Given the description of an element on the screen output the (x, y) to click on. 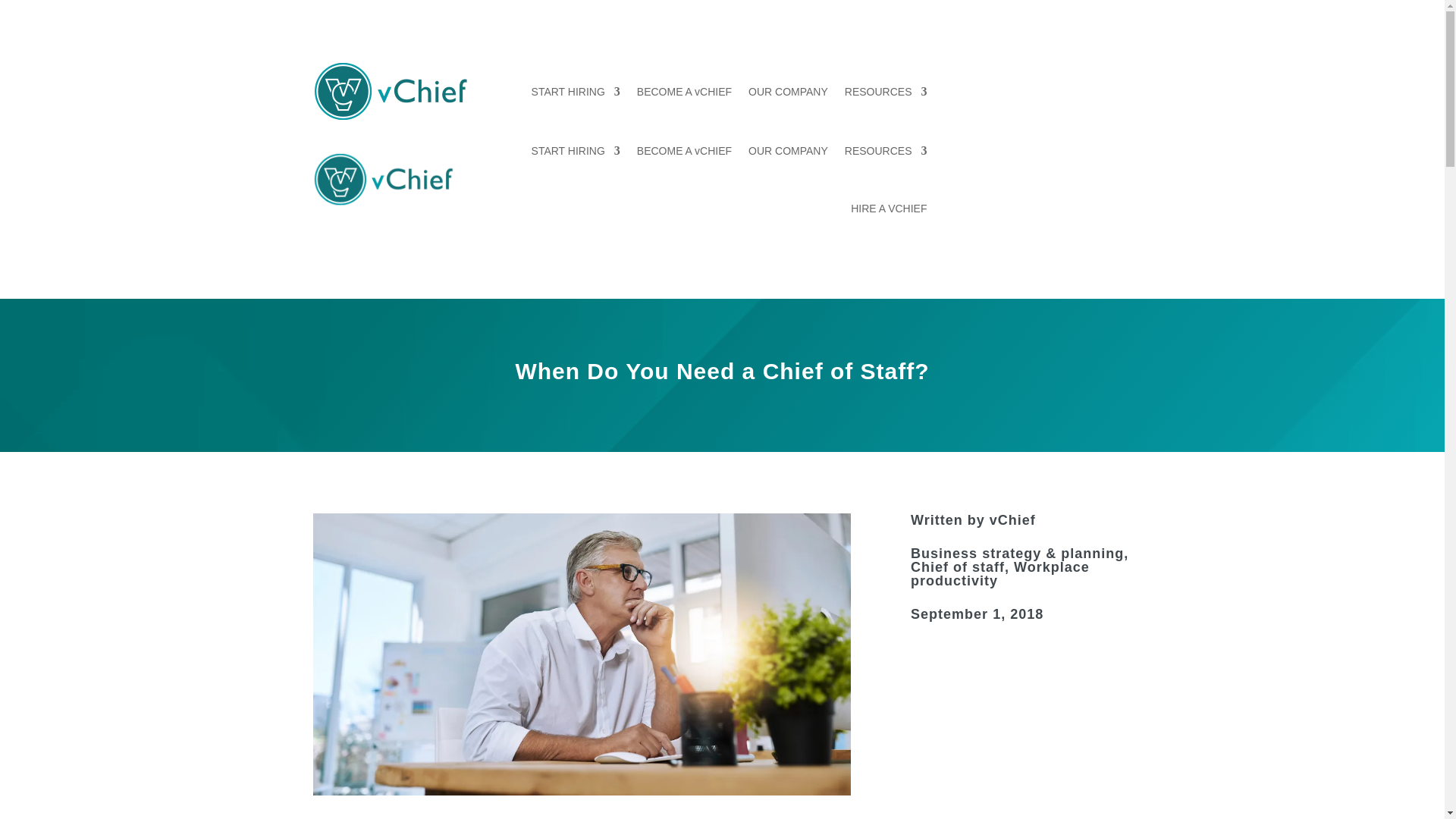
Chief of staff (957, 566)
OUR COMPANY (788, 150)
START HIRING (575, 91)
OUR COMPANY (788, 91)
START HIRING (575, 150)
HIRE A VCHIEF (888, 208)
BECOME A vCHIEF (684, 150)
Workplace productivity (1000, 573)
BECOME A vCHIEF (684, 91)
